Given the description of an element on the screen output the (x, y) to click on. 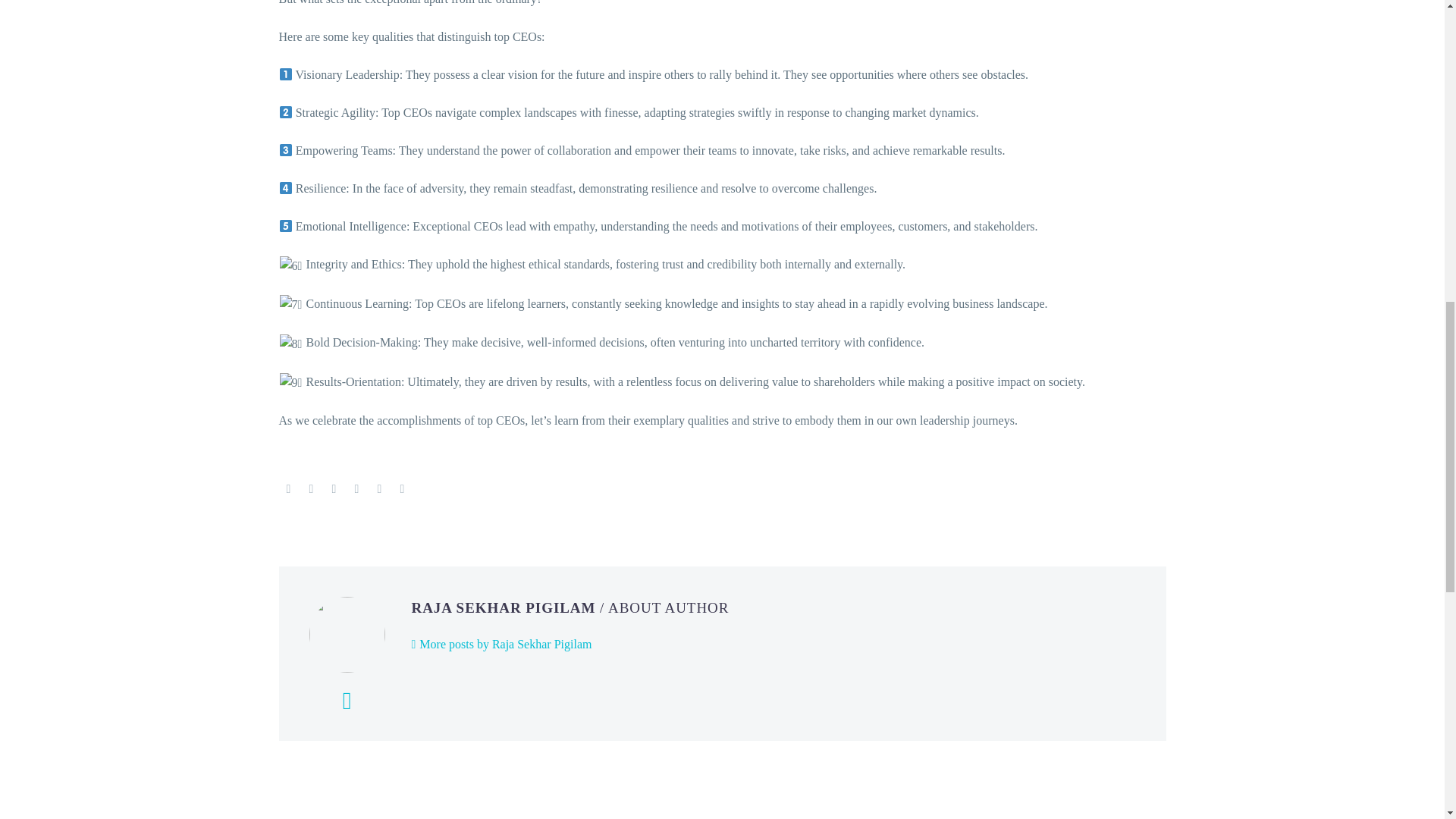
Reddit (401, 489)
Pinterest (333, 489)
Facebook (288, 489)
Tumblr (356, 489)
Twitter (310, 489)
LinkedIn (378, 489)
